Given the description of an element on the screen output the (x, y) to click on. 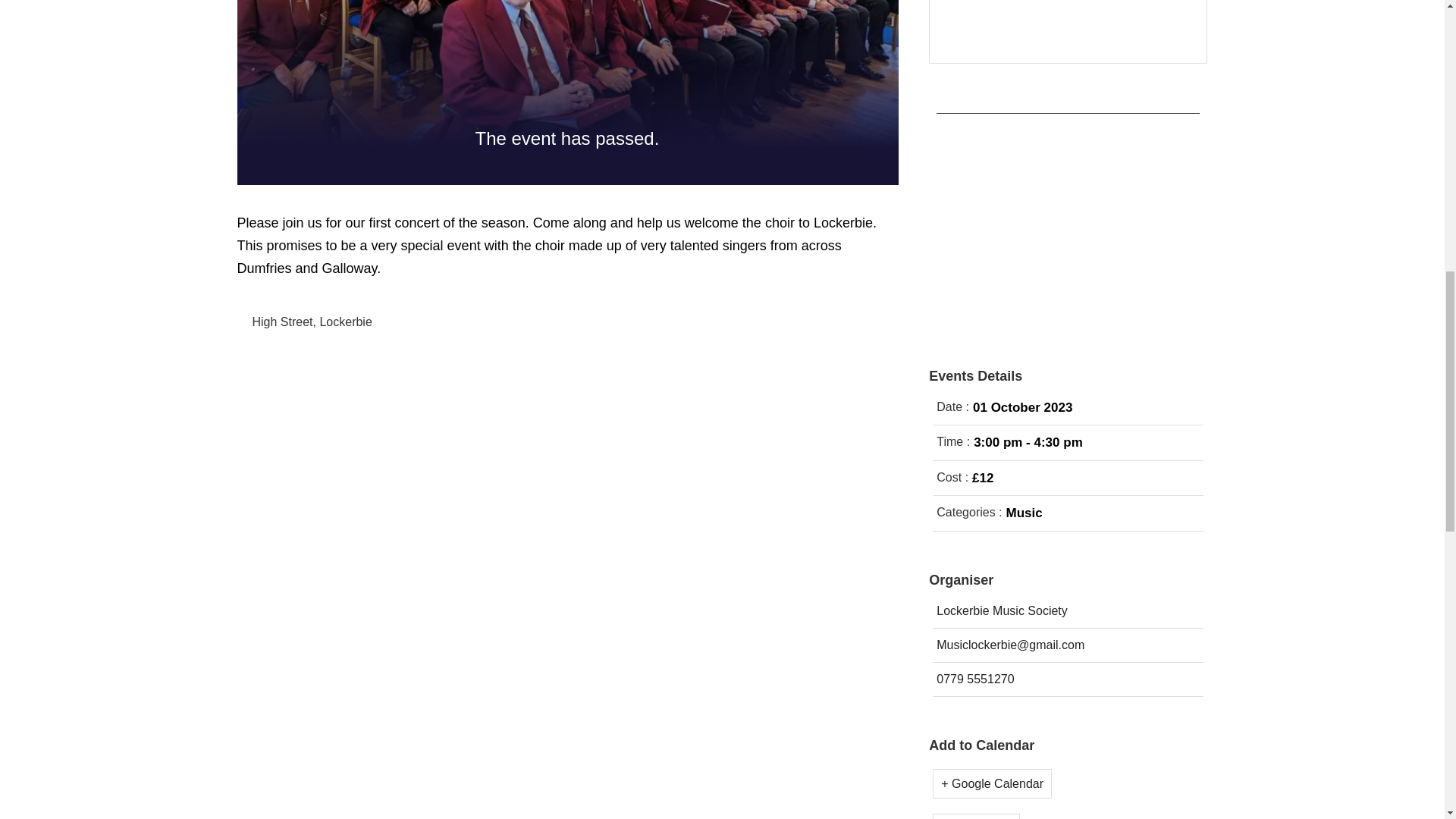
Lockerbie Music Society (1001, 610)
0779 5551270 (973, 679)
Music (1024, 513)
